Given the description of an element on the screen output the (x, y) to click on. 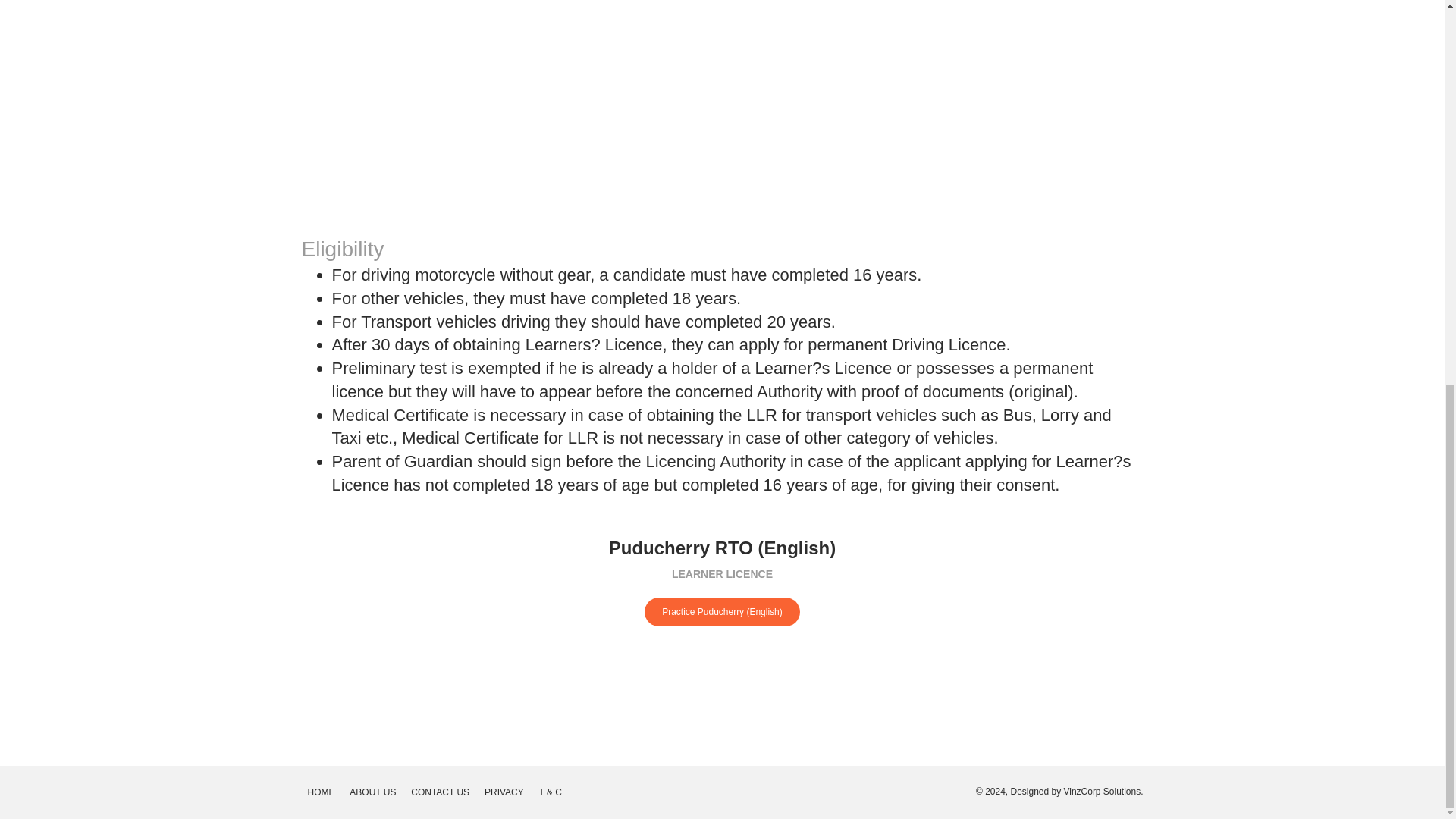
PRIVACY (504, 792)
CONTACT US (440, 792)
ABOUT US (372, 792)
HOME (320, 792)
